Given the description of an element on the screen output the (x, y) to click on. 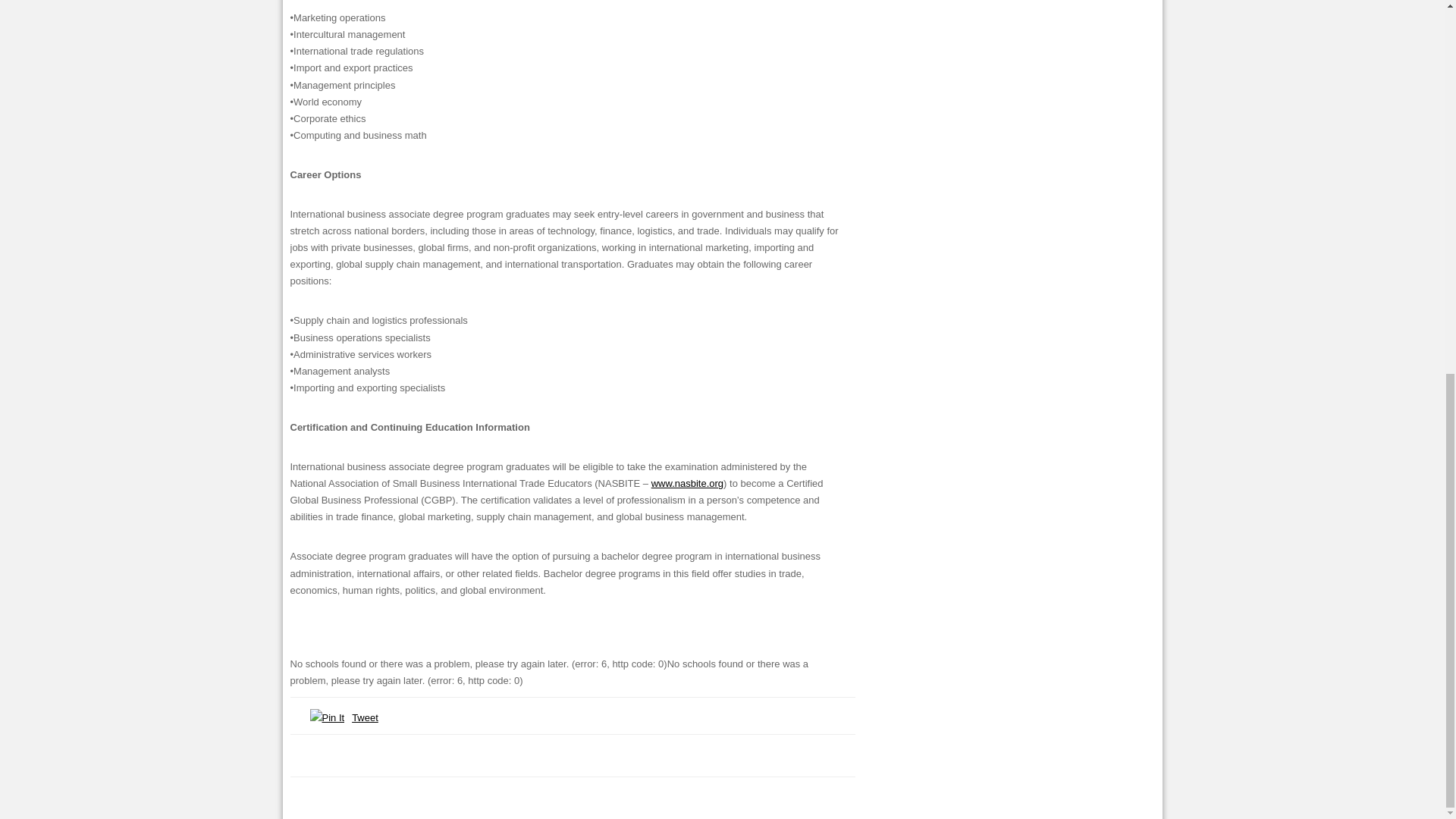
www.nasbite.org (686, 482)
Pin It (325, 717)
Tweet (365, 717)
